Given the description of an element on the screen output the (x, y) to click on. 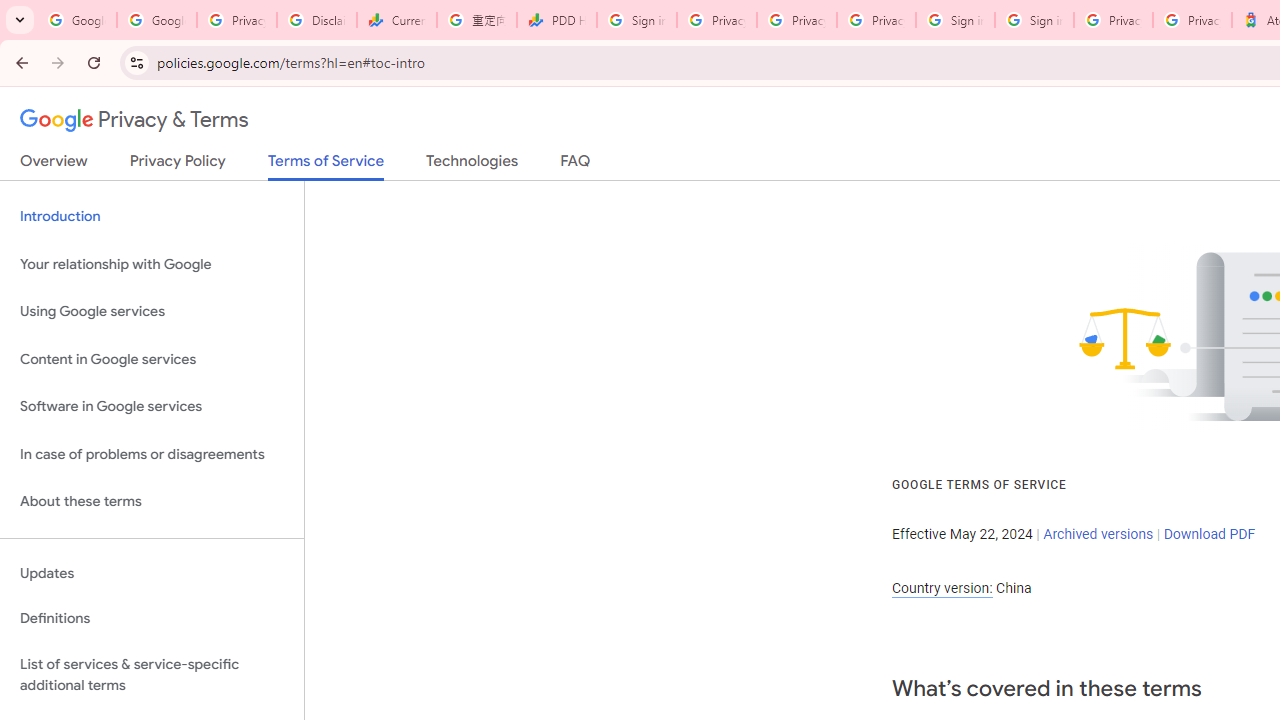
Sign in - Google Accounts (636, 20)
Country version: (942, 588)
Your relationship with Google (152, 263)
